Given the description of an element on the screen output the (x, y) to click on. 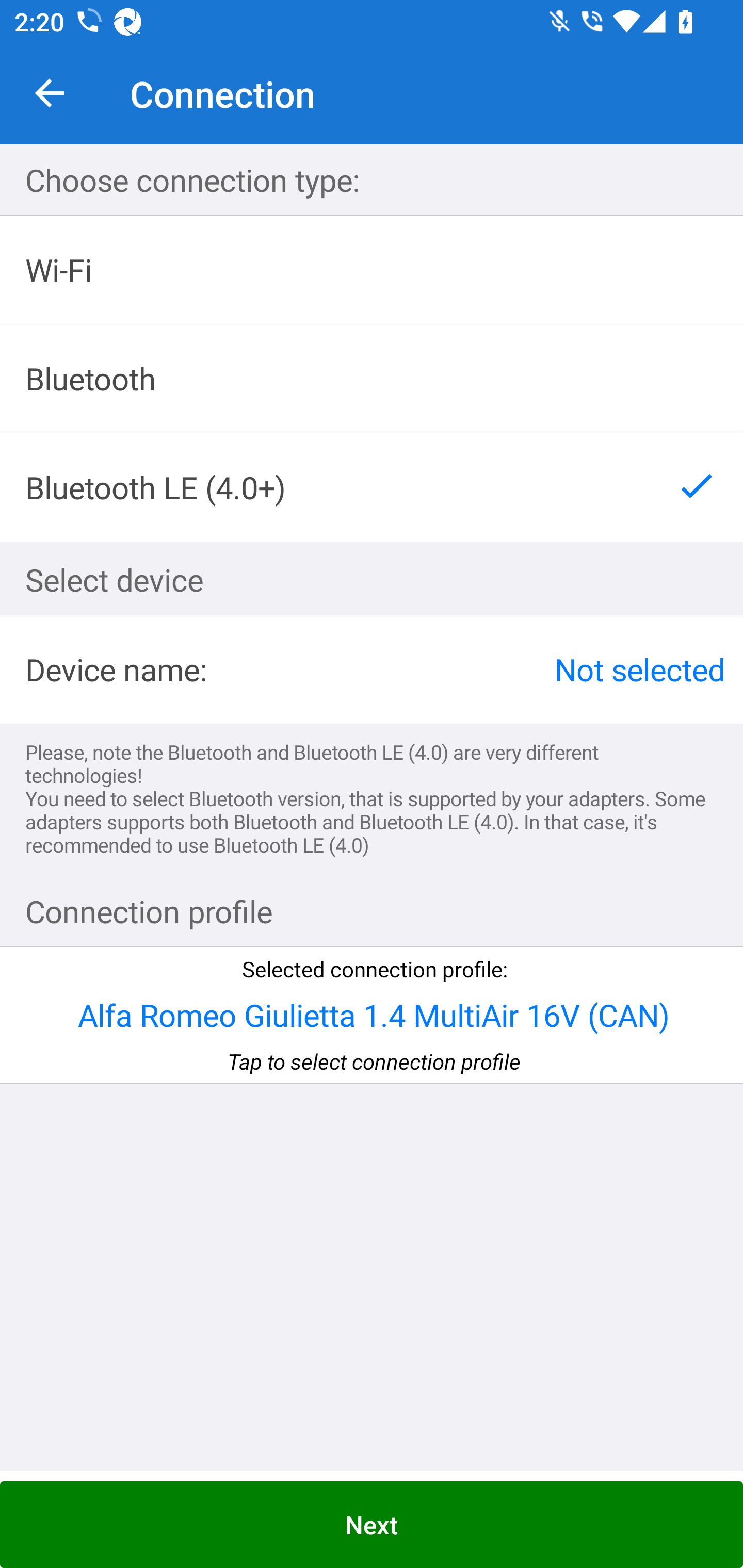
Wi-Fi (371, 270)
Bluetooth (371, 378)
Bluetooth LE (4.0+) (371, 486)
Device name: Not selected (371, 669)
Next (371, 1524)
